Given the description of an element on the screen output the (x, y) to click on. 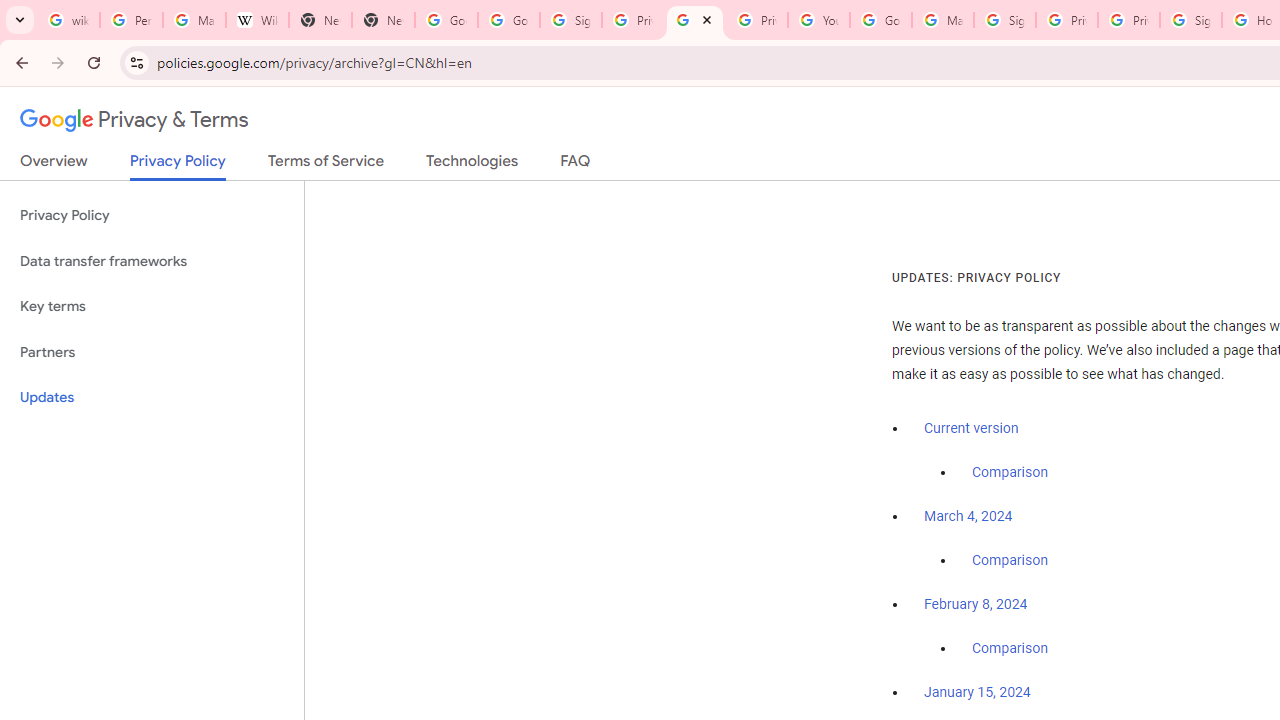
Personalization & Google Search results - Google Search Help (130, 20)
January 15, 2024 (977, 693)
March 4, 2024 (968, 517)
Sign in - Google Accounts (1004, 20)
Sign in - Google Accounts (570, 20)
